Given the description of an element on the screen output the (x, y) to click on. 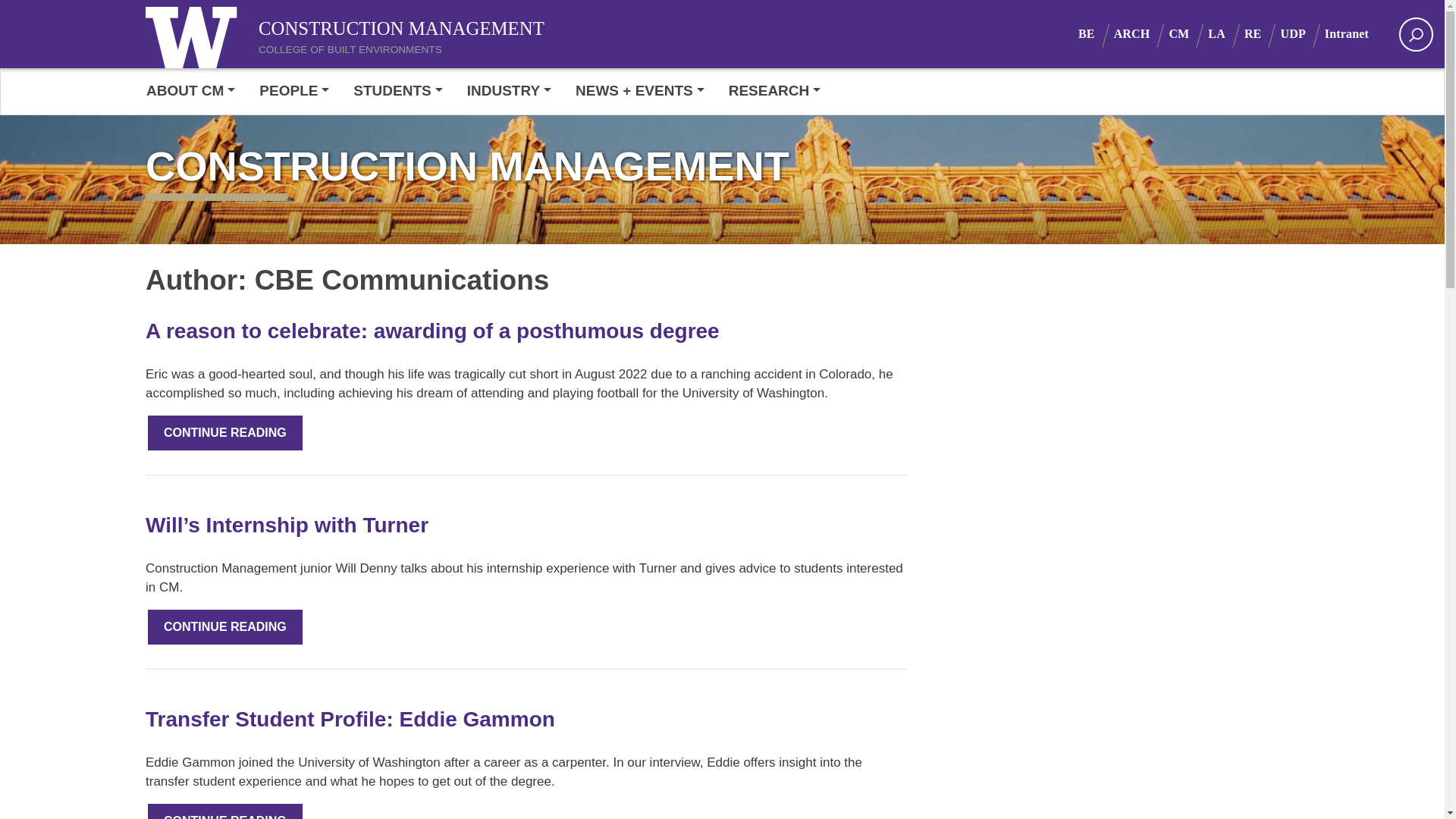
University of Washington Home (194, 33)
ABOUT CM (197, 91)
University of Washington (194, 33)
STUDENTS (397, 91)
UDP (1301, 33)
PEOPLE (293, 91)
CM (1188, 33)
BE (1095, 33)
LA (1226, 33)
Construction Management Home (371, 23)
